Given the description of an element on the screen output the (x, y) to click on. 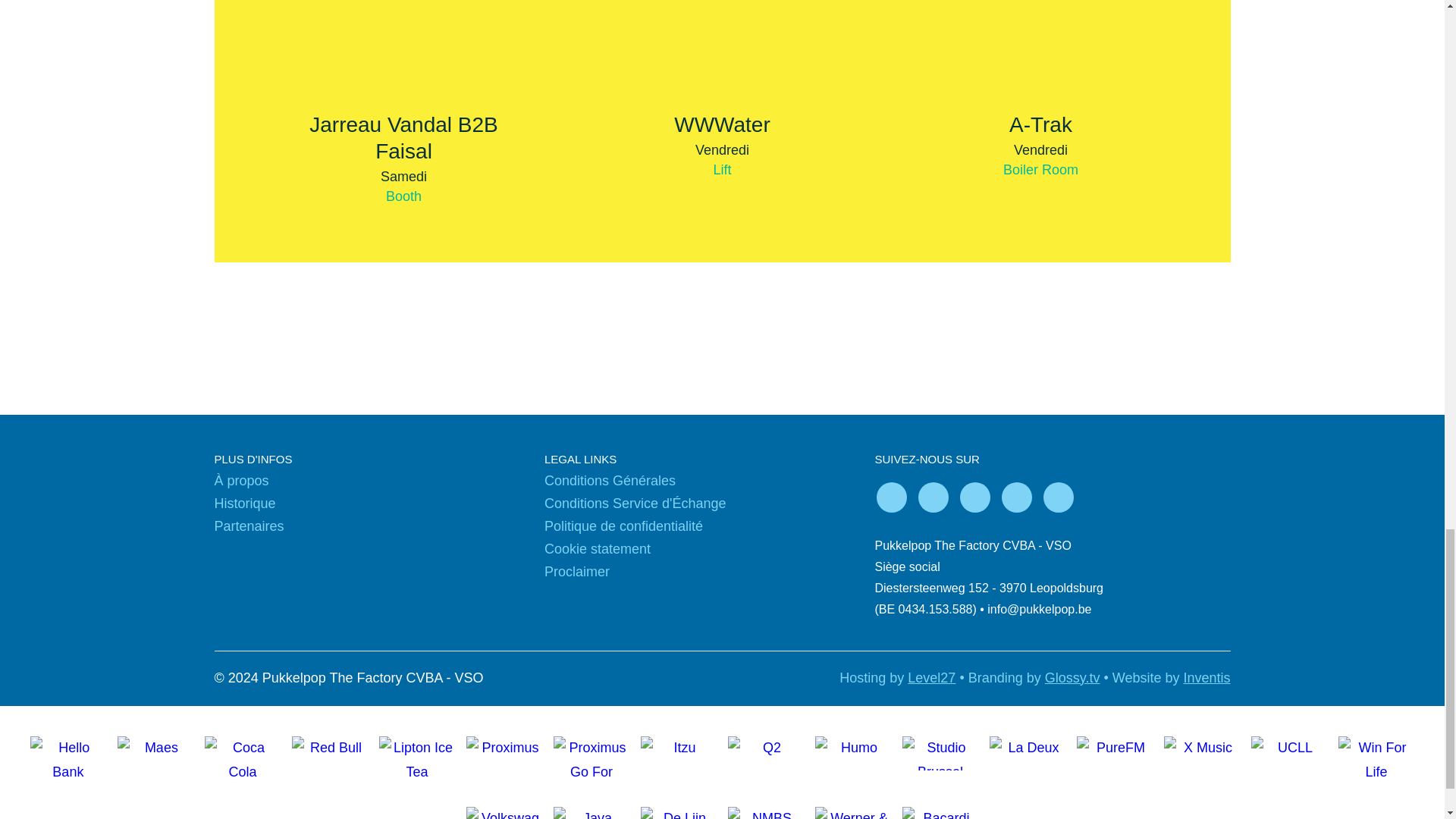
Proximus Go For Music (591, 756)
Java (591, 805)
Hello Bank (68, 756)
Proclaimer (577, 571)
Coca Cola (241, 756)
NMBS (765, 805)
Lipton Ice Tea (416, 756)
UCLL (1288, 756)
Level27 (931, 677)
Cookie statement (597, 548)
